Given the description of an element on the screen output the (x, y) to click on. 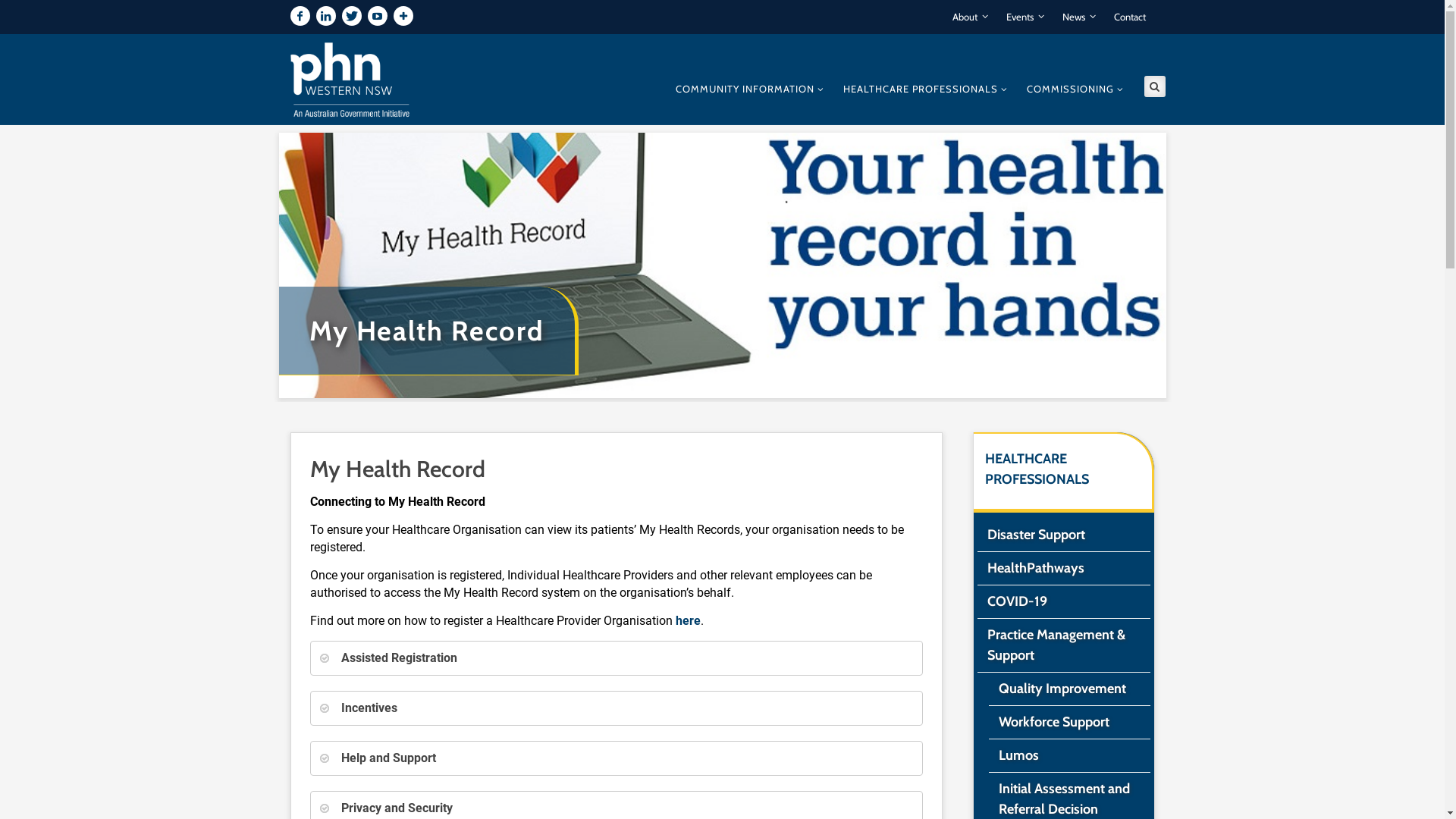
COVID-19 Element type: text (1062, 601)
HealthPathways Element type: text (1062, 568)
COMMUNITY INFORMATION Element type: text (748, 87)
here Element type: text (686, 620)
About   Element type: text (970, 16)
Disaster Support Element type: text (1062, 534)
Workforce Support Element type: text (1069, 722)
HEALTHCARE PROFESSIONALS Element type: text (1036, 468)
News   Element type: text (1078, 16)
HEALTHCARE PROFESSIONALS Element type: text (925, 87)
COMMISSIONING Element type: text (1074, 87)
Events   Element type: text (1024, 16)
Practice Management & Support Element type: text (1062, 644)
Contact Element type: text (1129, 16)
Quality Improvement Element type: text (1069, 688)
Lumos Element type: text (1069, 755)
